Given the description of an element on the screen output the (x, y) to click on. 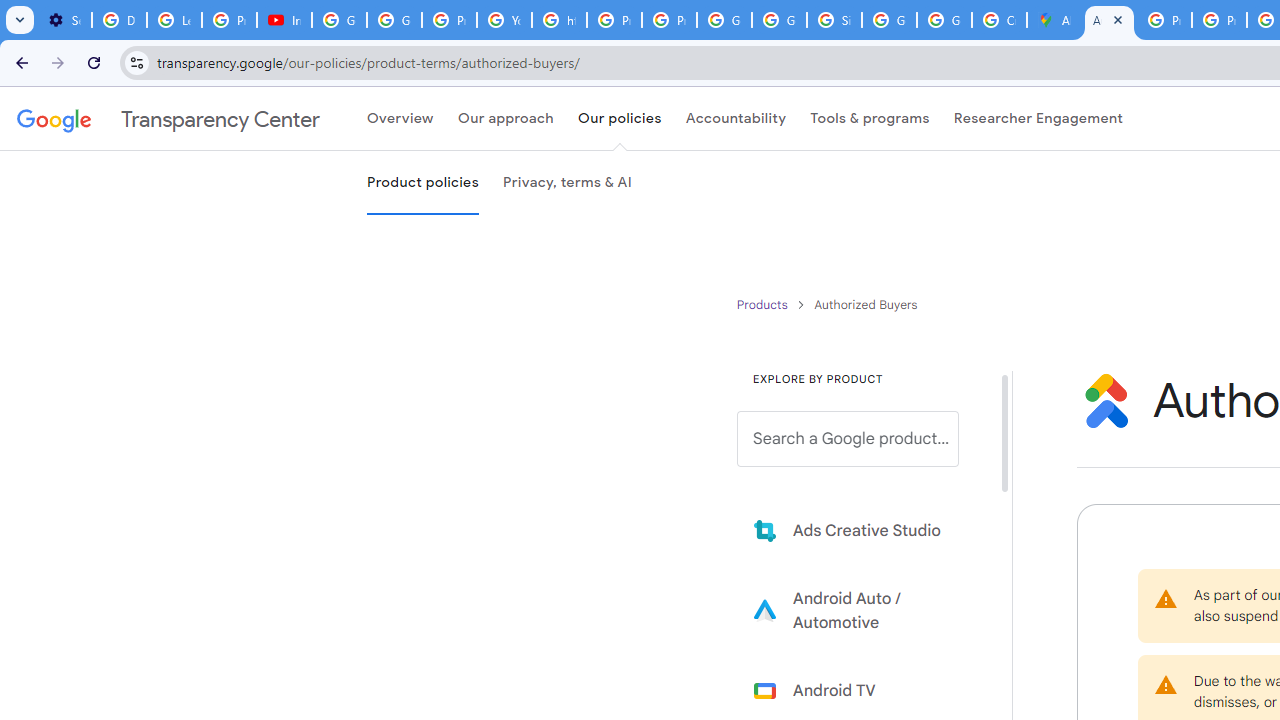
Transparency Center (167, 119)
Search a Google product from below list. (847, 439)
Introduction | Google Privacy Policy - YouTube (284, 20)
Google Account Help (394, 20)
Learn more about Android Auto (862, 610)
Delete photos & videos - Computer - Google Photos Help (119, 20)
Sign in - Google Accounts (833, 20)
Our approach (505, 119)
